Given the description of an element on the screen output the (x, y) to click on. 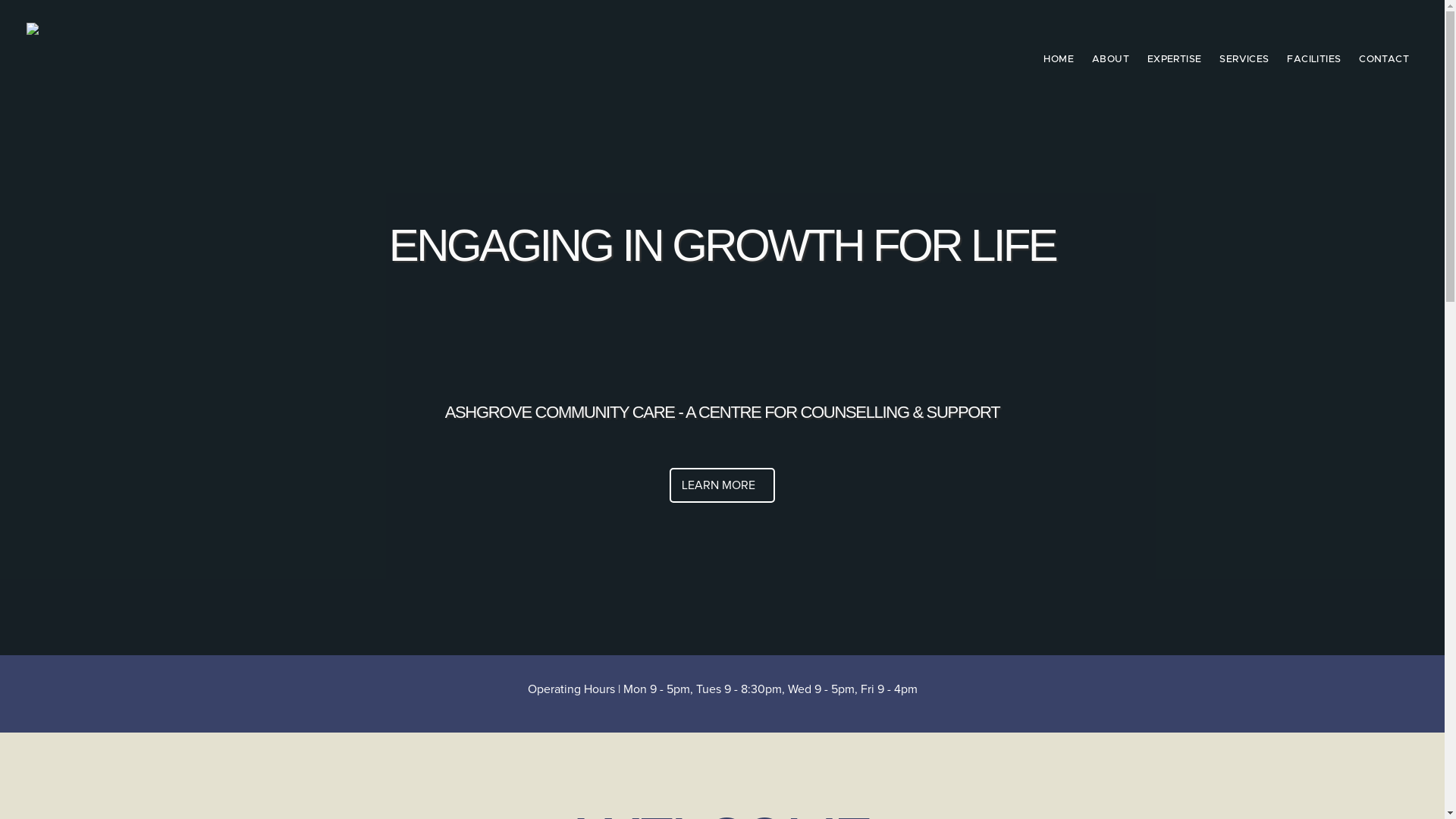
CONTACT Element type: text (1383, 60)
HOME Element type: text (1058, 60)
SERVICES Element type: text (1243, 60)
FACILITIES Element type: text (1313, 60)
LEARN MORE Element type: text (722, 484)
EXPERTISE Element type: text (1174, 60)
ABOUT Element type: text (1110, 60)
